Given the description of an element on the screen output the (x, y) to click on. 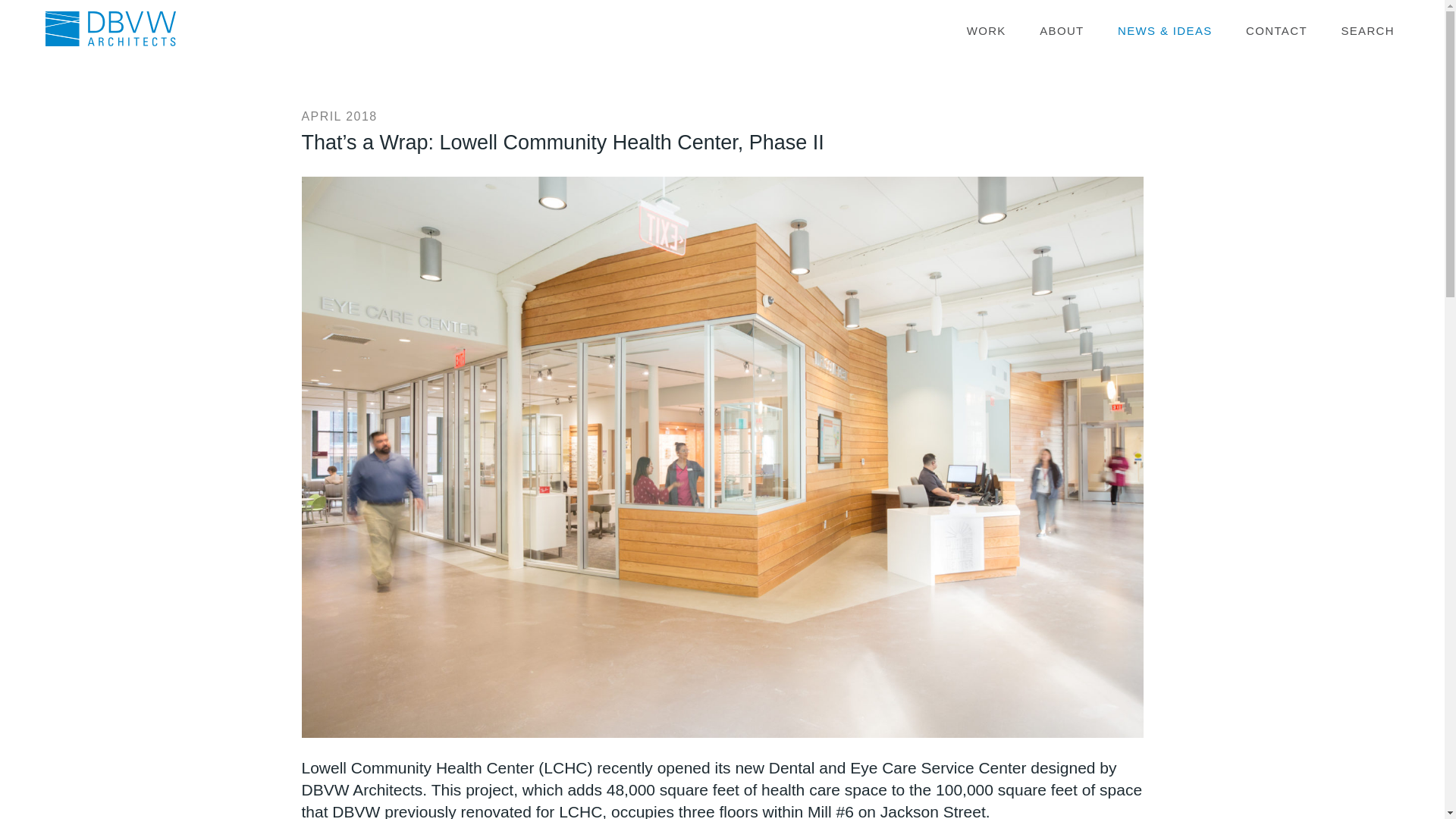
ABOUT (1060, 31)
WORK (986, 31)
SEARCH (1367, 31)
CONTACT (1276, 31)
